Given the description of an element on the screen output the (x, y) to click on. 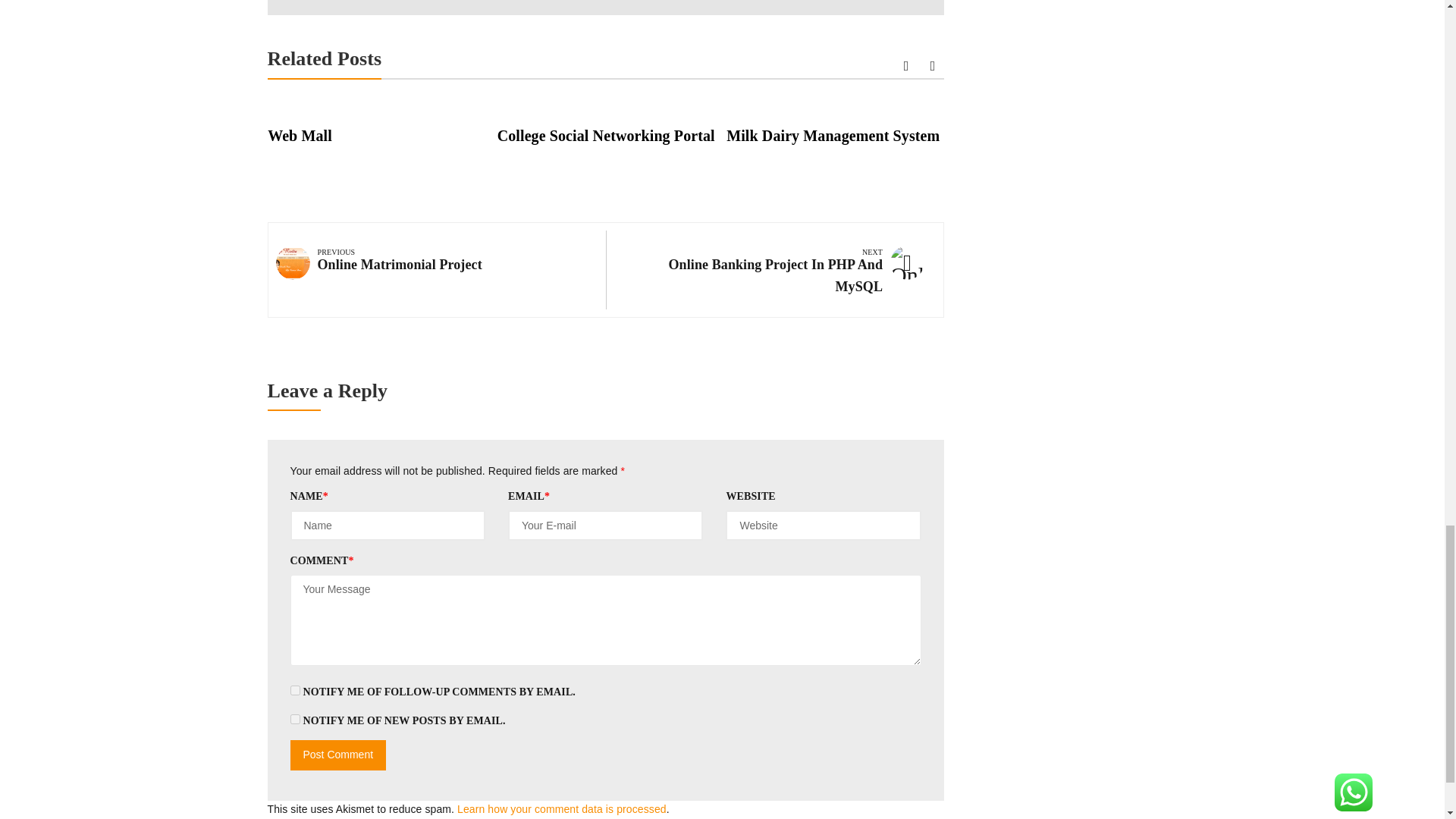
College Social Networking Portal (605, 135)
Post Comment (337, 755)
Web Mall (299, 135)
subscribe (294, 718)
Milk Dairy Management System (832, 135)
subscribe (294, 690)
